Given the description of an element on the screen output the (x, y) to click on. 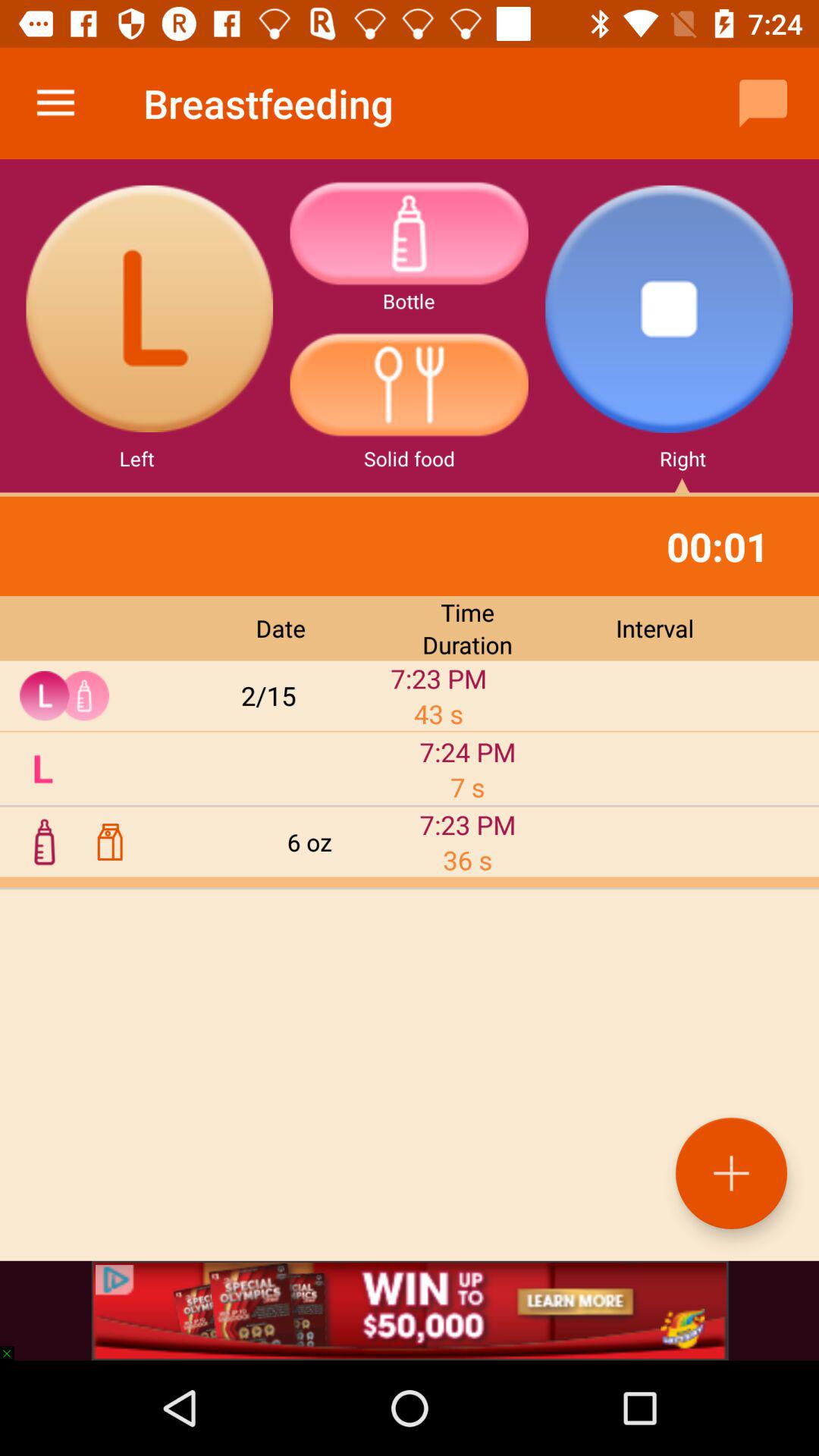
choose the icon next to breastfeeding icon (55, 103)
